Given the description of an element on the screen output the (x, y) to click on. 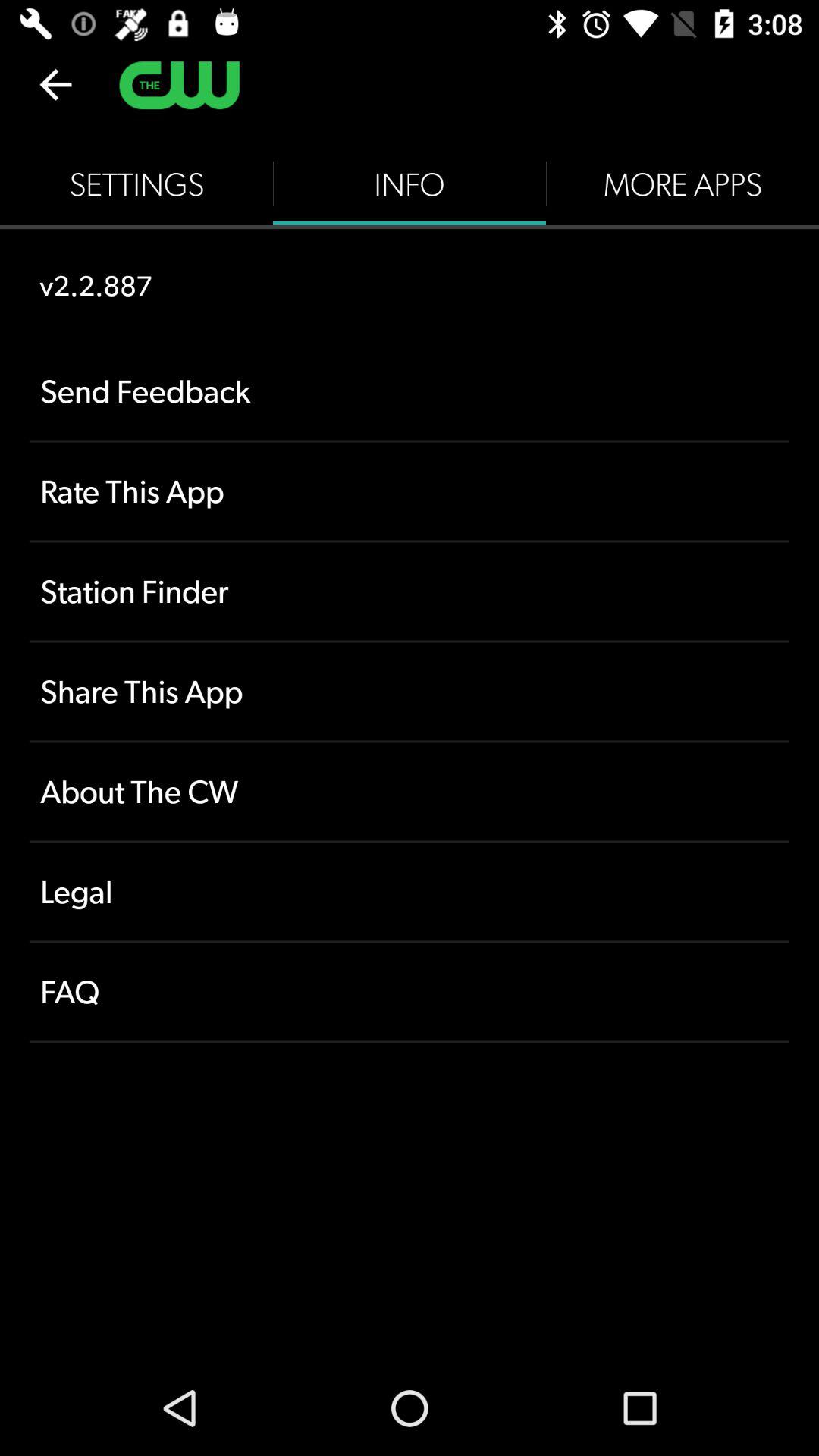
open icon below share this app (409, 791)
